Given the description of an element on the screen output the (x, y) to click on. 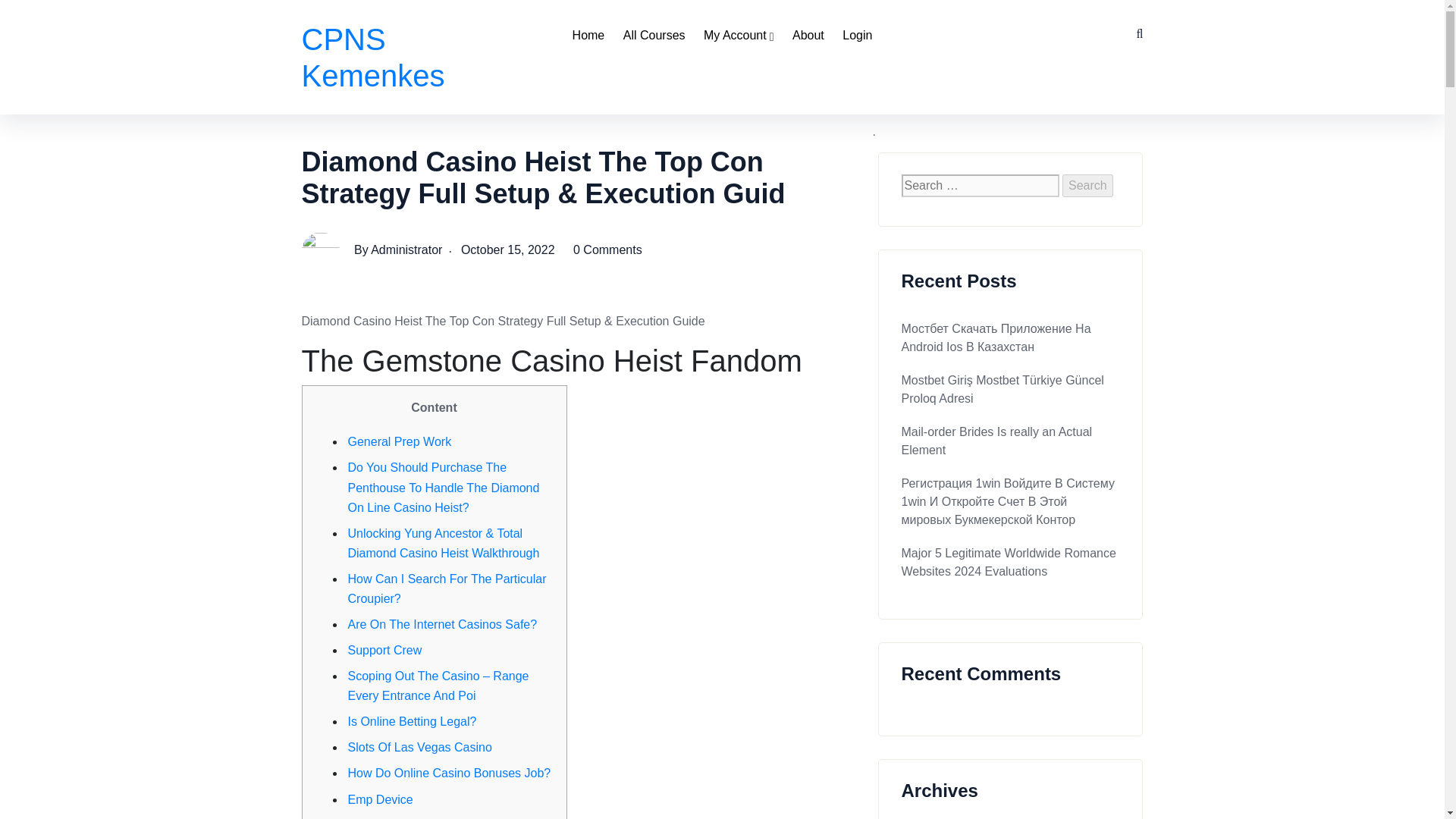
Posts by Administrator (406, 249)
All Courses (654, 35)
Search (1087, 185)
How Do Online Casino Bonuses Job? (448, 772)
My Account (738, 35)
Support Crew (384, 649)
Emp Device (379, 799)
Search (1087, 185)
Are On The Internet Casinos Safe? (442, 624)
General Prep Work (399, 440)
Slots Of Las Vegas Casino (419, 747)
Administrator (406, 249)
CPNS Kemenkes (373, 60)
Is Online Betting Legal? (411, 721)
